Given the description of an element on the screen output the (x, y) to click on. 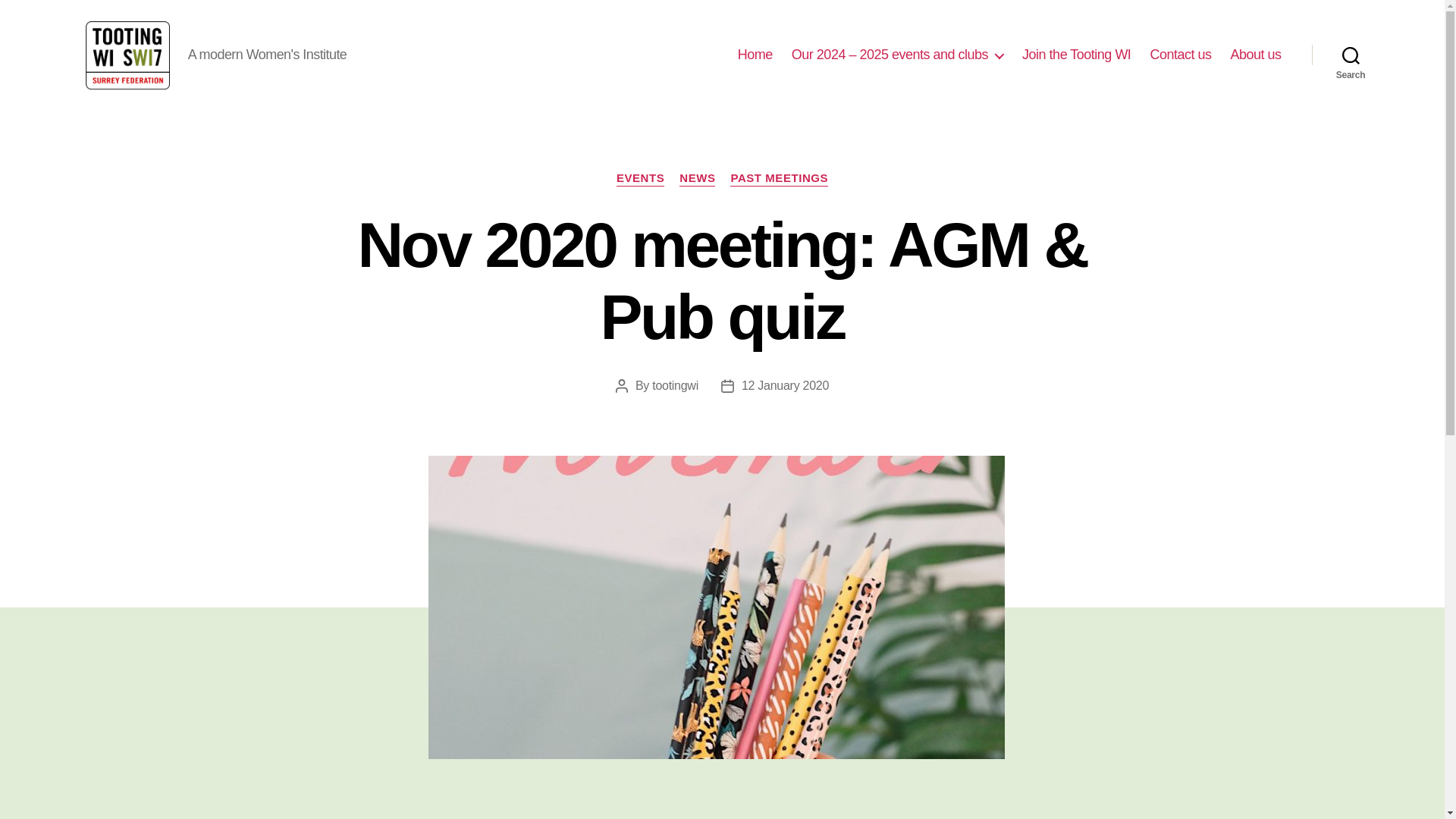
About us (1255, 54)
Home (755, 54)
12 January 2020 (784, 385)
tootingwi (675, 385)
EVENTS (639, 178)
PAST MEETINGS (779, 178)
NEWS (696, 178)
Join the Tooting WI (1076, 54)
Contact us (1180, 54)
Search (1350, 55)
